Given the description of an element on the screen output the (x, y) to click on. 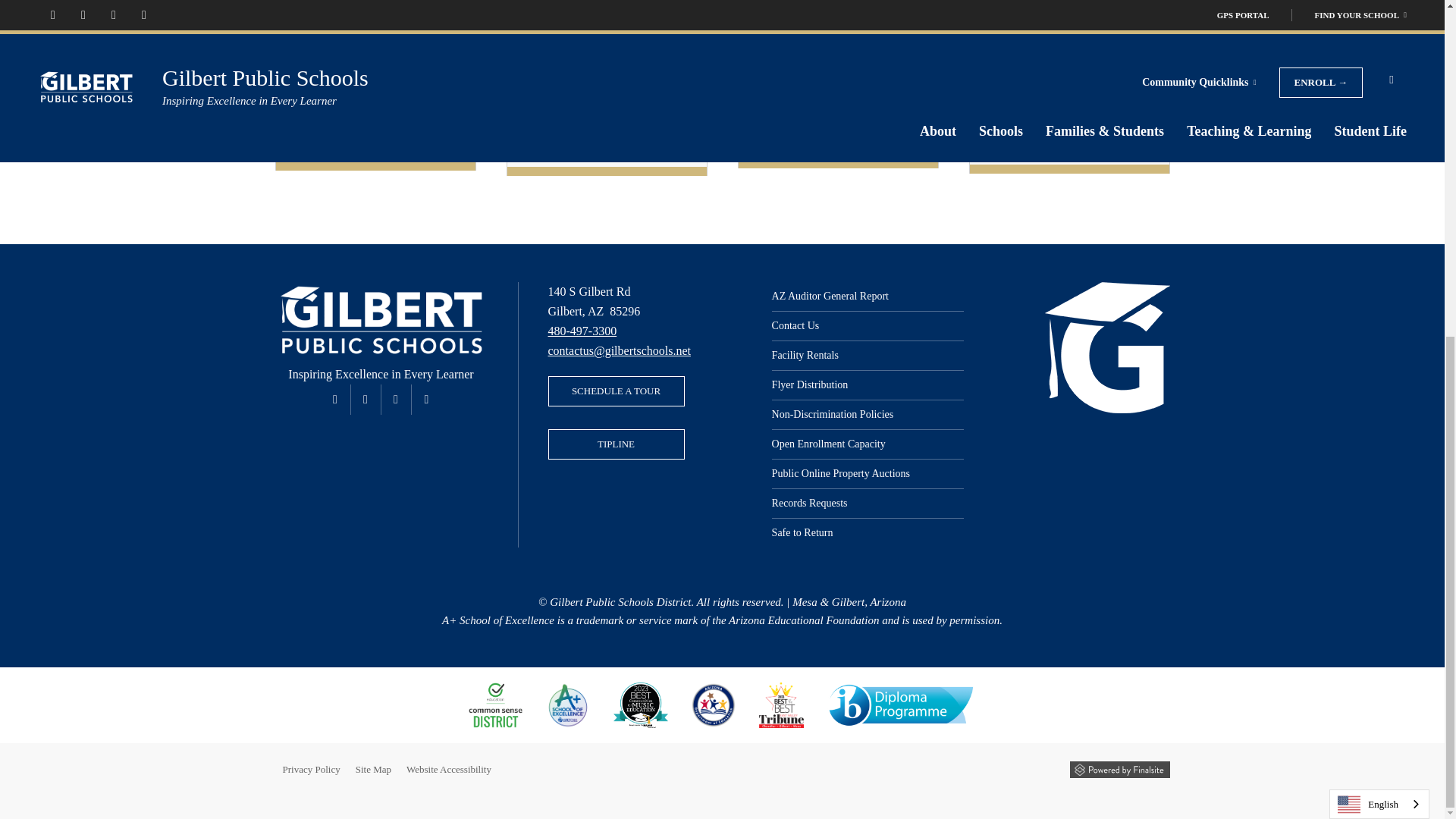
Email (619, 350)
Powered by Finalsite opens in a new window (1118, 769)
